Given the description of an element on the screen output the (x, y) to click on. 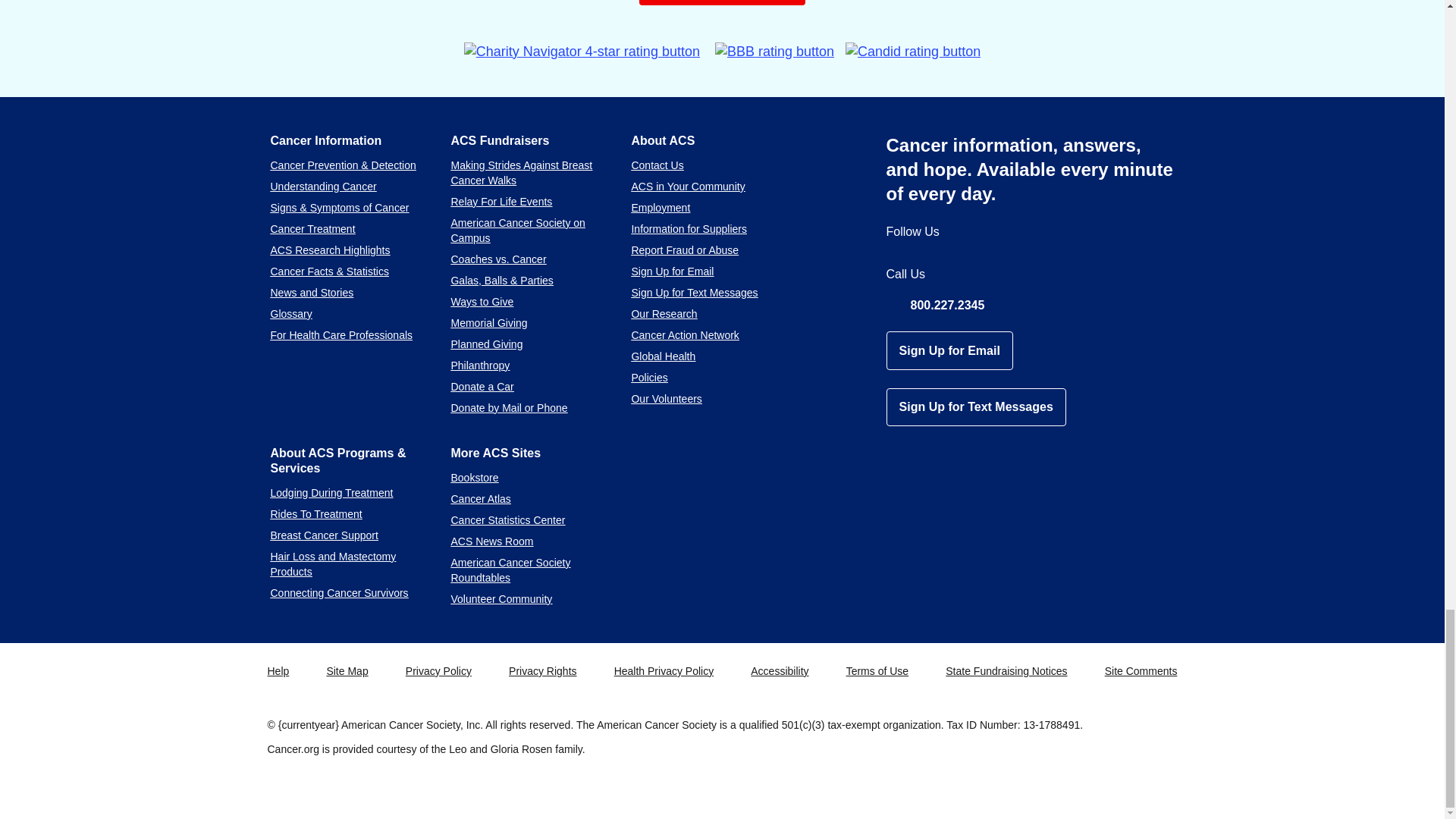
Understanding Cancer (322, 186)
ACS Research Highlights (329, 250)
Cancer Treatment (312, 228)
